Given the description of an element on the screen output the (x, y) to click on. 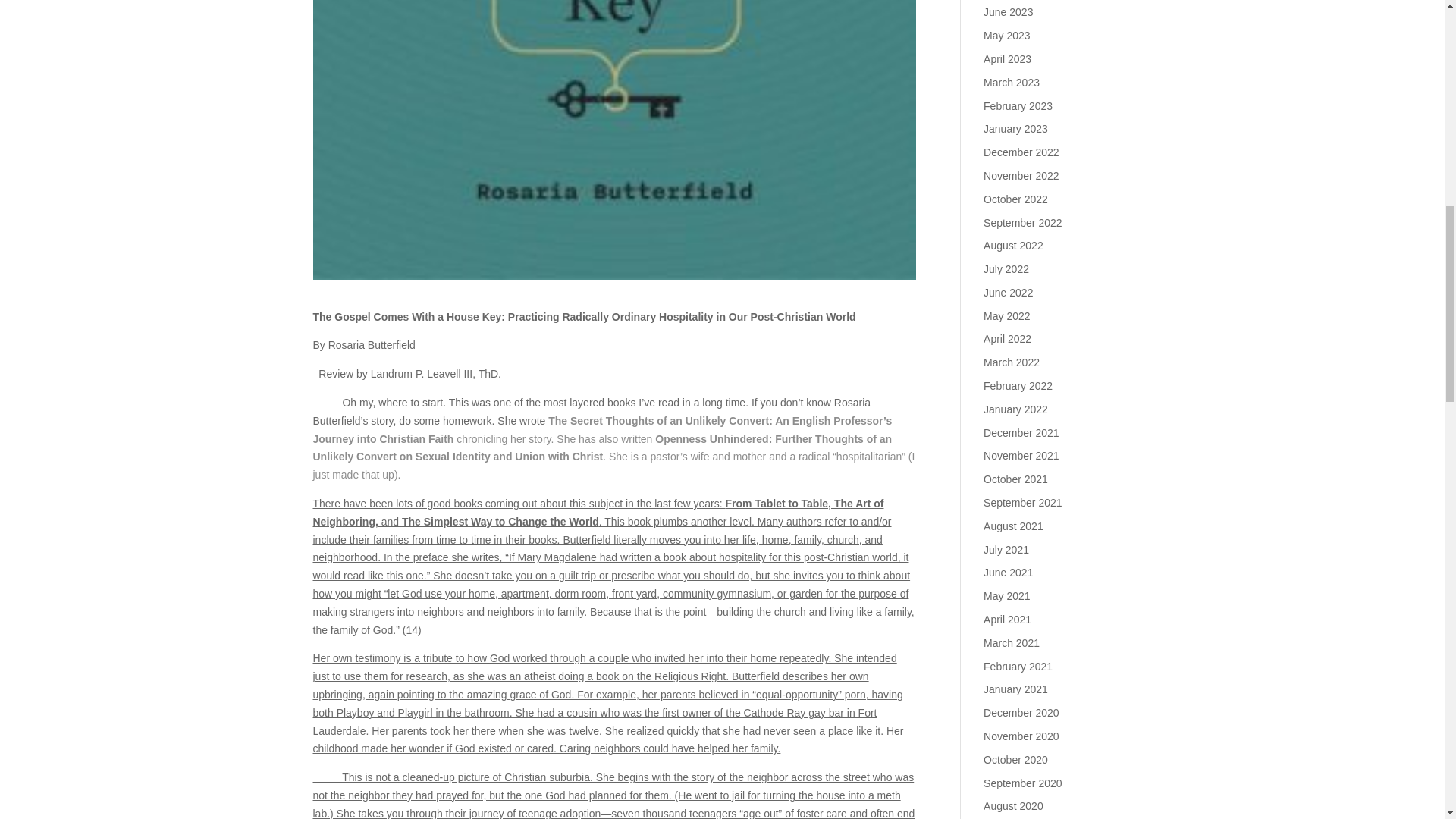
March 2023 (1011, 82)
May 2023 (1006, 35)
June 2023 (1008, 11)
February 2023 (1018, 105)
April 2023 (1007, 59)
January 2023 (1016, 128)
